Given the description of an element on the screen output the (x, y) to click on. 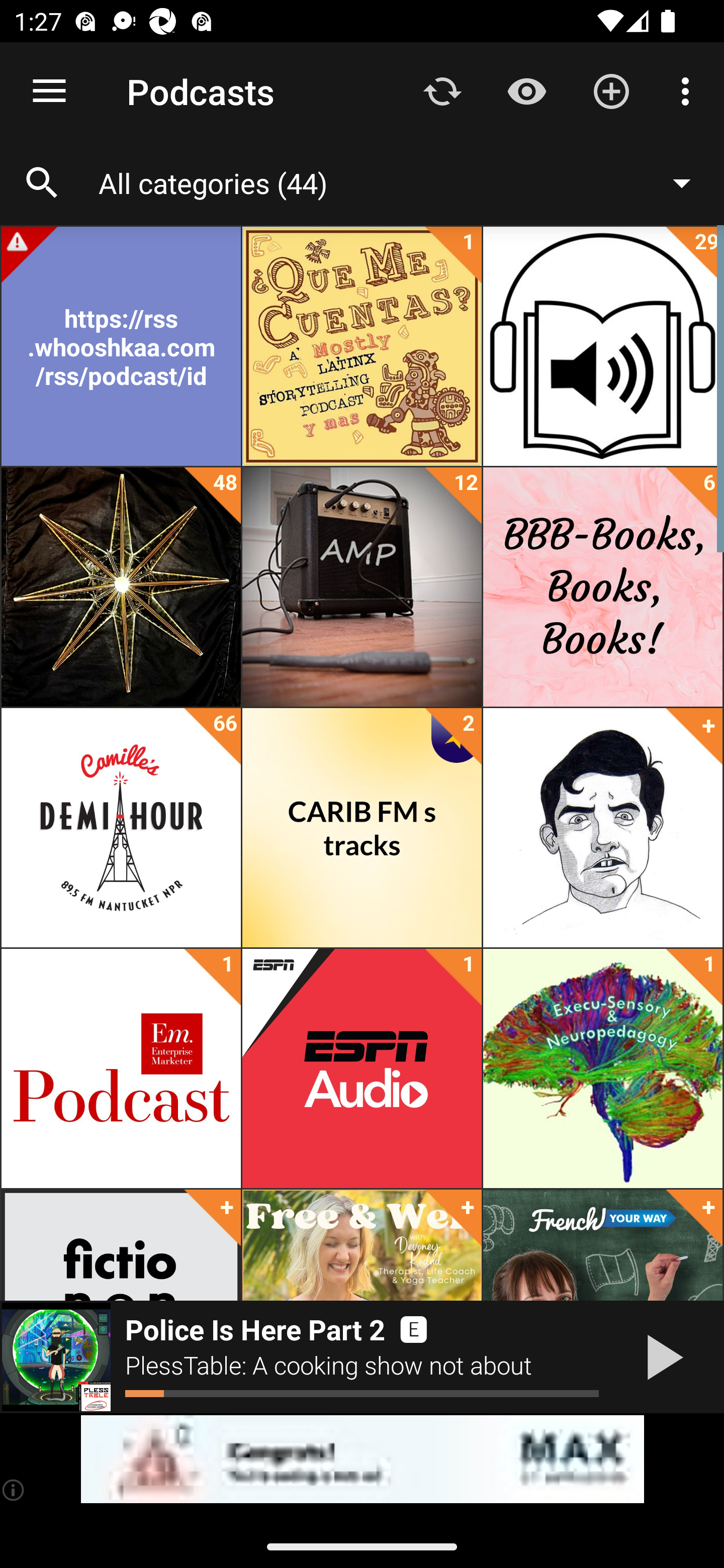
Open navigation sidebar (49, 91)
Update (442, 90)
Show / Hide played content (526, 90)
Add new Podcast (611, 90)
More options (688, 90)
Search (42, 183)
All categories (44) (404, 182)
https://rss.whooshkaa.com/rss/podcast/id/5884 (121, 346)
¿Qué Me Cuentas?: Latinx Storytelling 1 (361, 346)
Audiobooks 29 (602, 346)
Audiobooks 48 (121, 587)
Australian Music Podcasts 12 (361, 587)
BBB-Books, Books, Books! 6 (602, 587)
Camille's Demi-Hour - NANTUCKET NPR 66 (121, 827)
CARIB FM's tracks 2 (361, 827)
Cooking Issues with Dave Arnold + (602, 827)
Enterprise Marketer Podcast - Conference 1 (121, 1068)
ESPN Audio 1 (361, 1068)
Play / Pause (660, 1356)
app-monetization (362, 1459)
(i) (14, 1489)
